Given the description of an element on the screen output the (x, y) to click on. 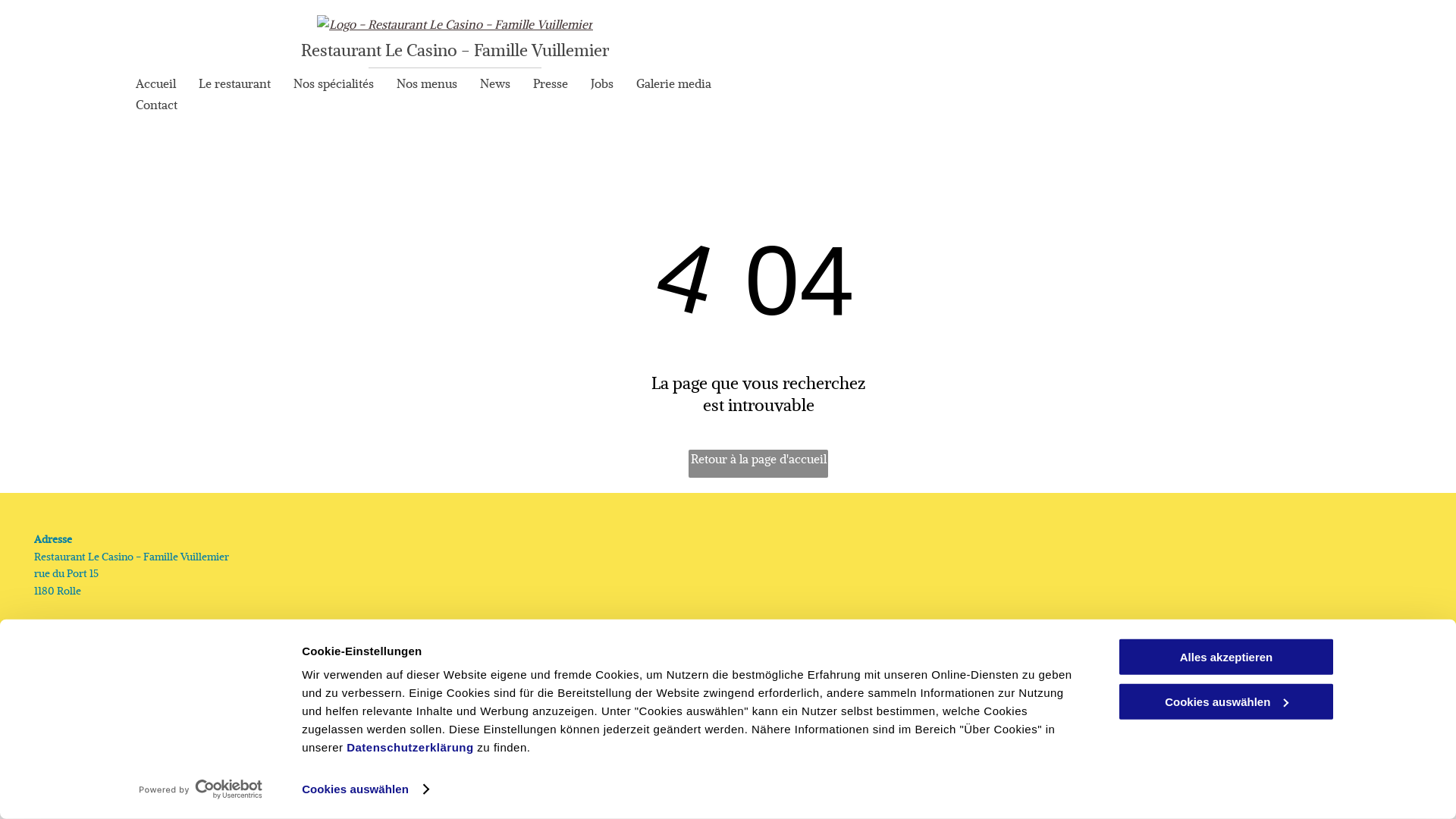
+41 21 825 14 40 Element type: text (70, 670)
info@casino-rolle.ch Element type: text (83, 704)
Contact Element type: text (156, 105)
Restaurant Le Casino - Famille Vuillemier Element type: text (454, 49)
Le restaurant Element type: text (233, 84)
Alles akzeptieren Element type: text (1225, 656)
Accueil Element type: text (155, 84)
Galerie media Element type: text (673, 84)
Nos menus Element type: text (426, 84)
Jobs Element type: text (601, 84)
News Element type: text (494, 84)
Presse Element type: text (550, 84)
